Given the description of an element on the screen output the (x, y) to click on. 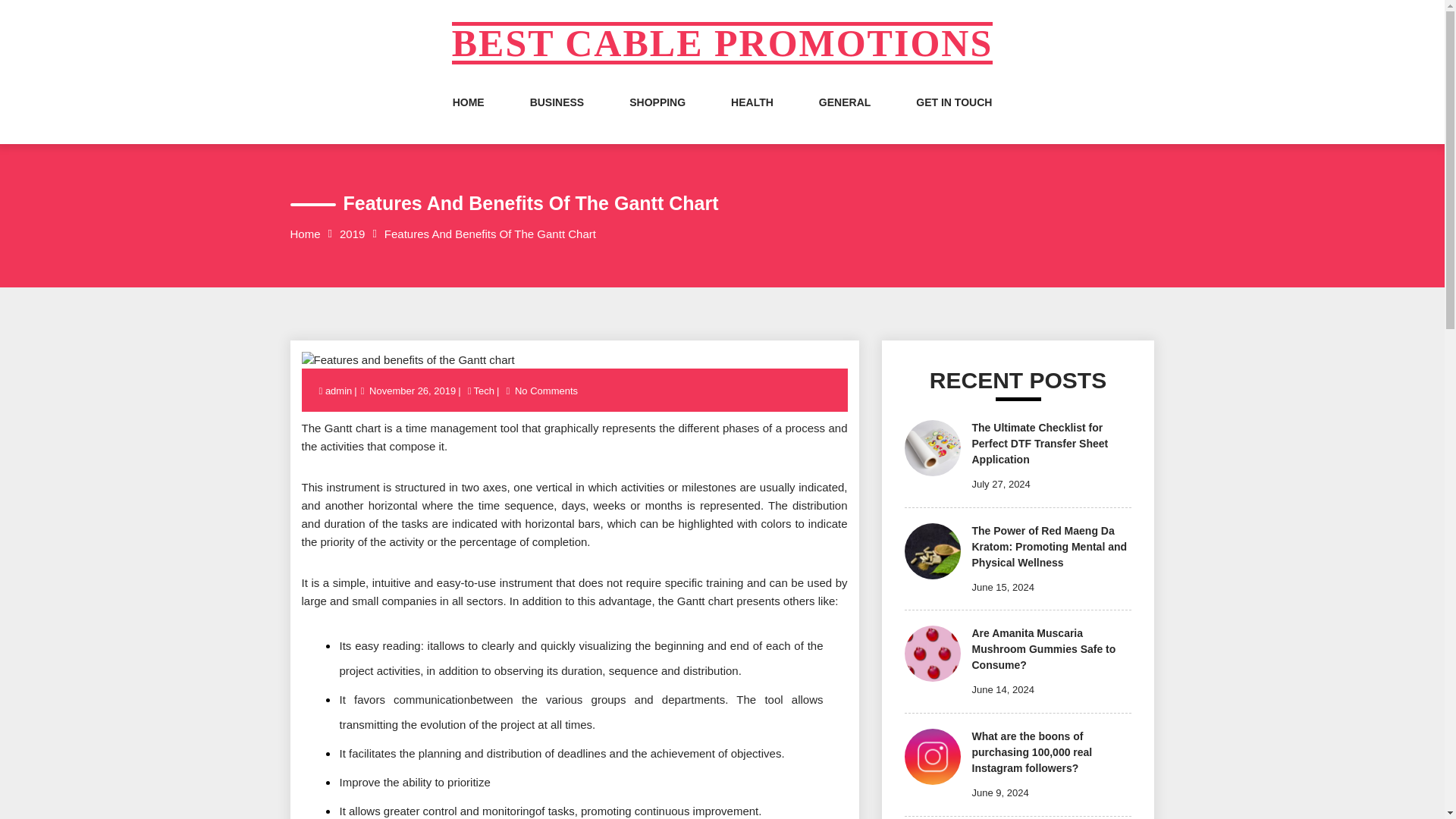
BUSINESS (557, 117)
GET IN TOUCH (953, 117)
No Comments (545, 390)
HEALTH (751, 117)
admin (338, 390)
BEST CABLE PROMOTIONS (721, 43)
SHOPPING (656, 117)
Tech (483, 390)
2019 (352, 233)
GENERAL (844, 117)
November 26, 2019 (412, 390)
Home (304, 233)
Are Amanita Muscaria Mushroom Gummies Safe to Consume? (1044, 648)
